Given the description of an element on the screen output the (x, y) to click on. 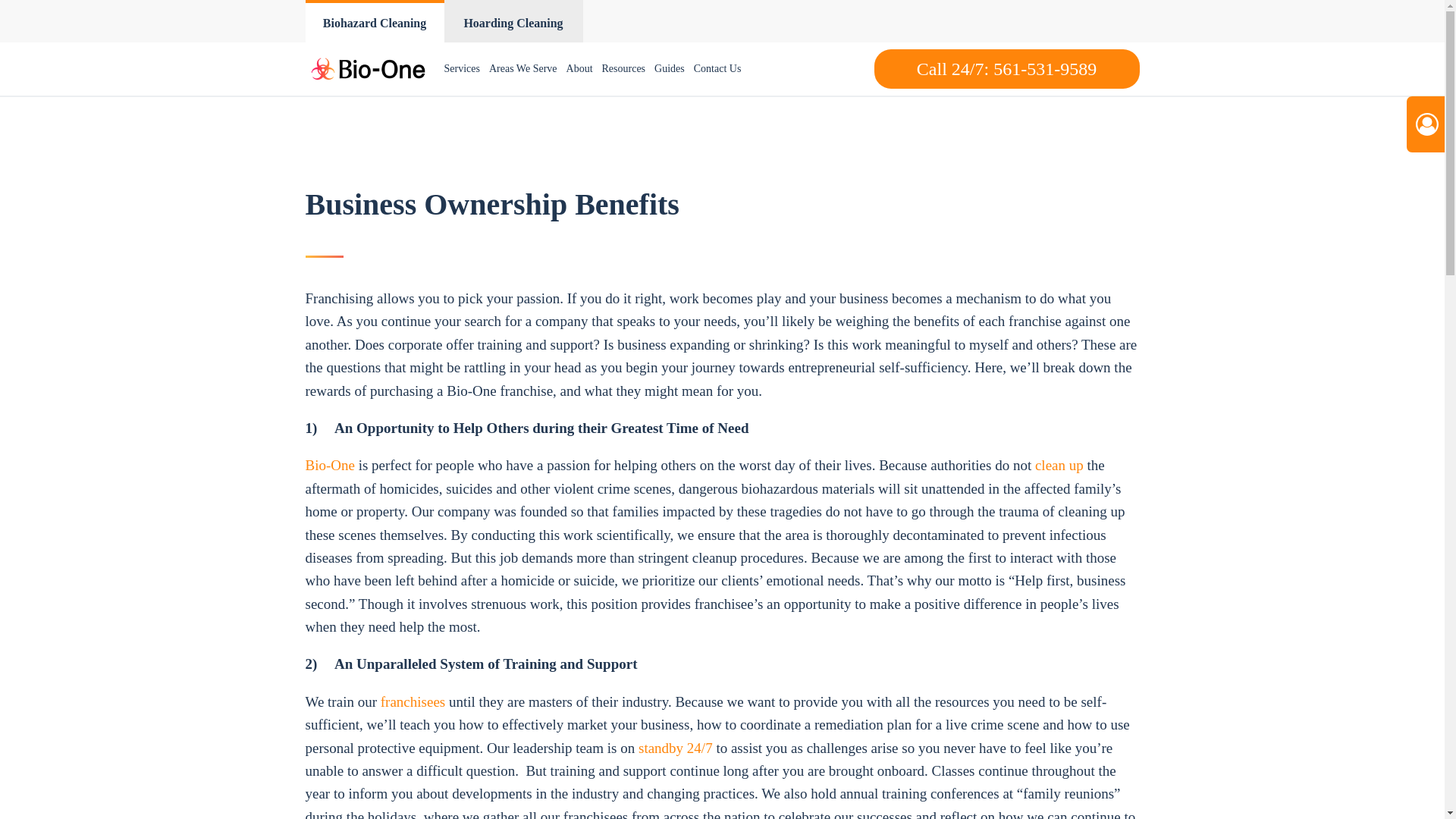
Resources (623, 68)
Contact Us (716, 68)
Areas We Serve (523, 68)
Bio-One (328, 465)
Biohazard Cleaning (374, 21)
Services (461, 68)
Hoarding Cleaning (513, 21)
